Given the description of an element on the screen output the (x, y) to click on. 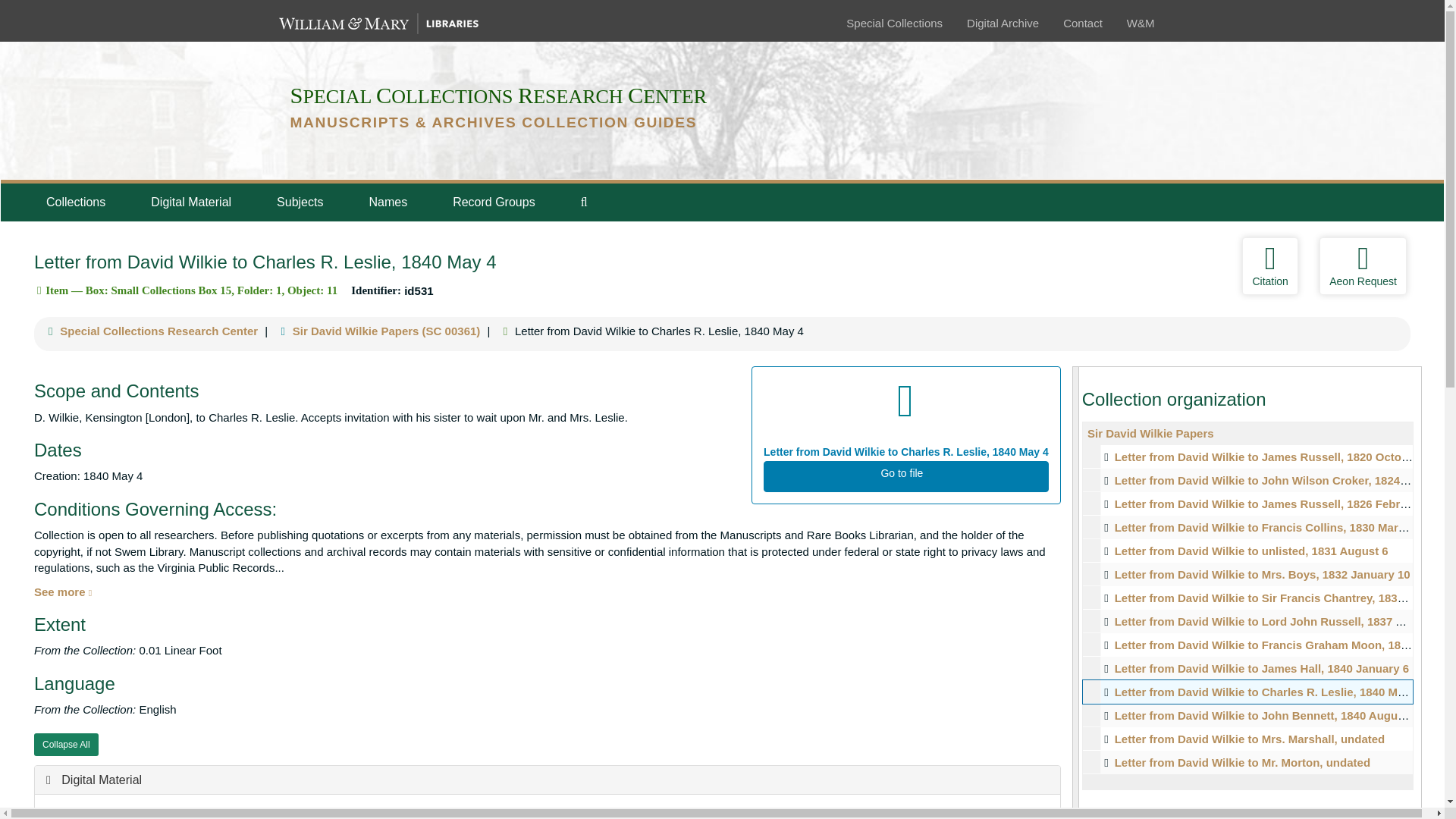
Citation (1269, 265)
Collections (75, 202)
See more (62, 591)
Digital Material (93, 779)
Letter from David Wilkie to Francis Collins (1247, 526)
Subjects (299, 202)
Letter from David Wilkie to unlisted (1247, 550)
Letter from David Wilkie to Mrs. Marshall (1247, 739)
Search The Archives (583, 202)
